Given the description of an element on the screen output the (x, y) to click on. 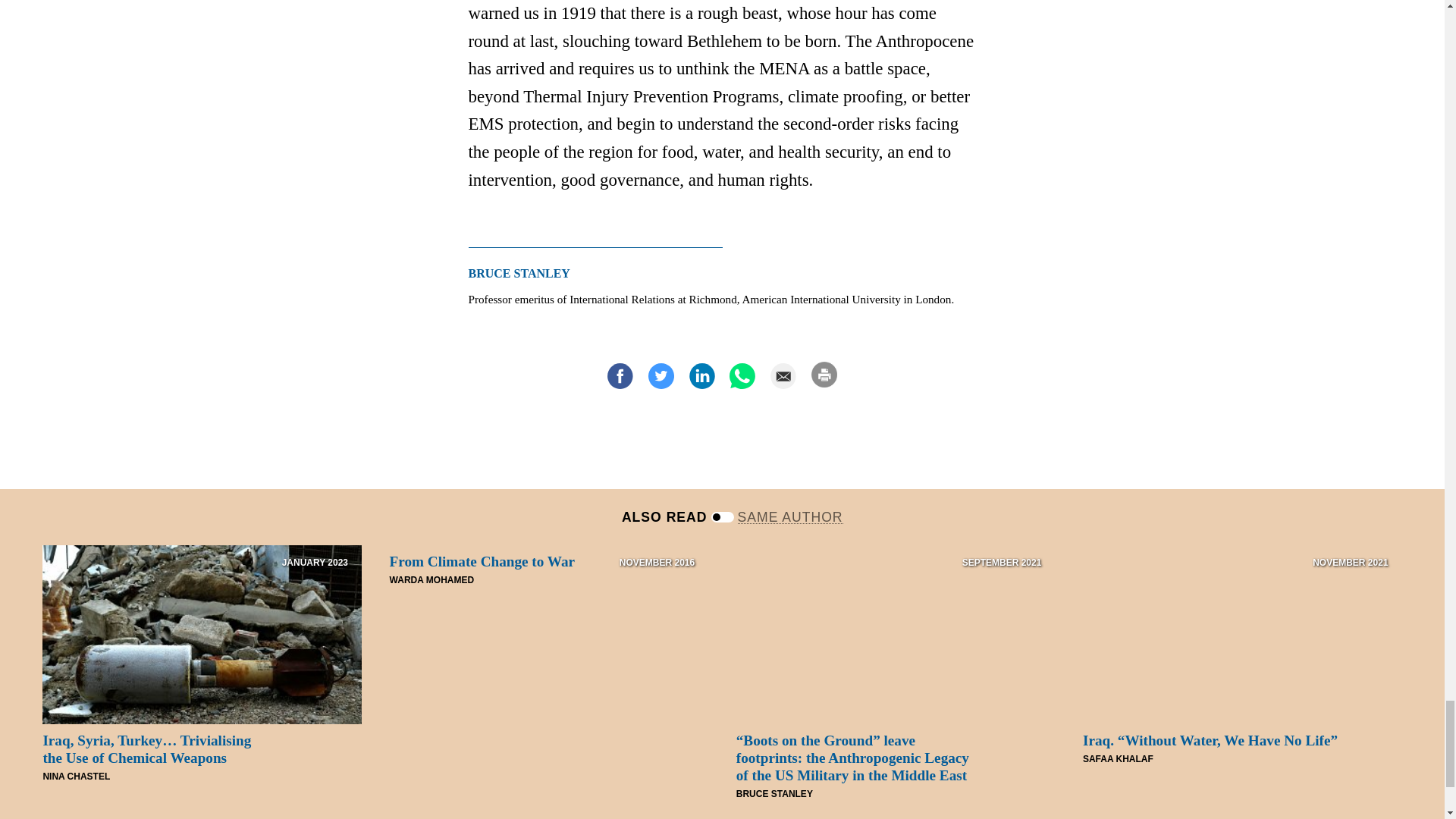
Facebook (619, 375)
LinkedIn (701, 375)
Imprimer (823, 374)
Whatsapp (742, 375)
Twitter (660, 375)
Mail (782, 375)
